Given the description of an element on the screen output the (x, y) to click on. 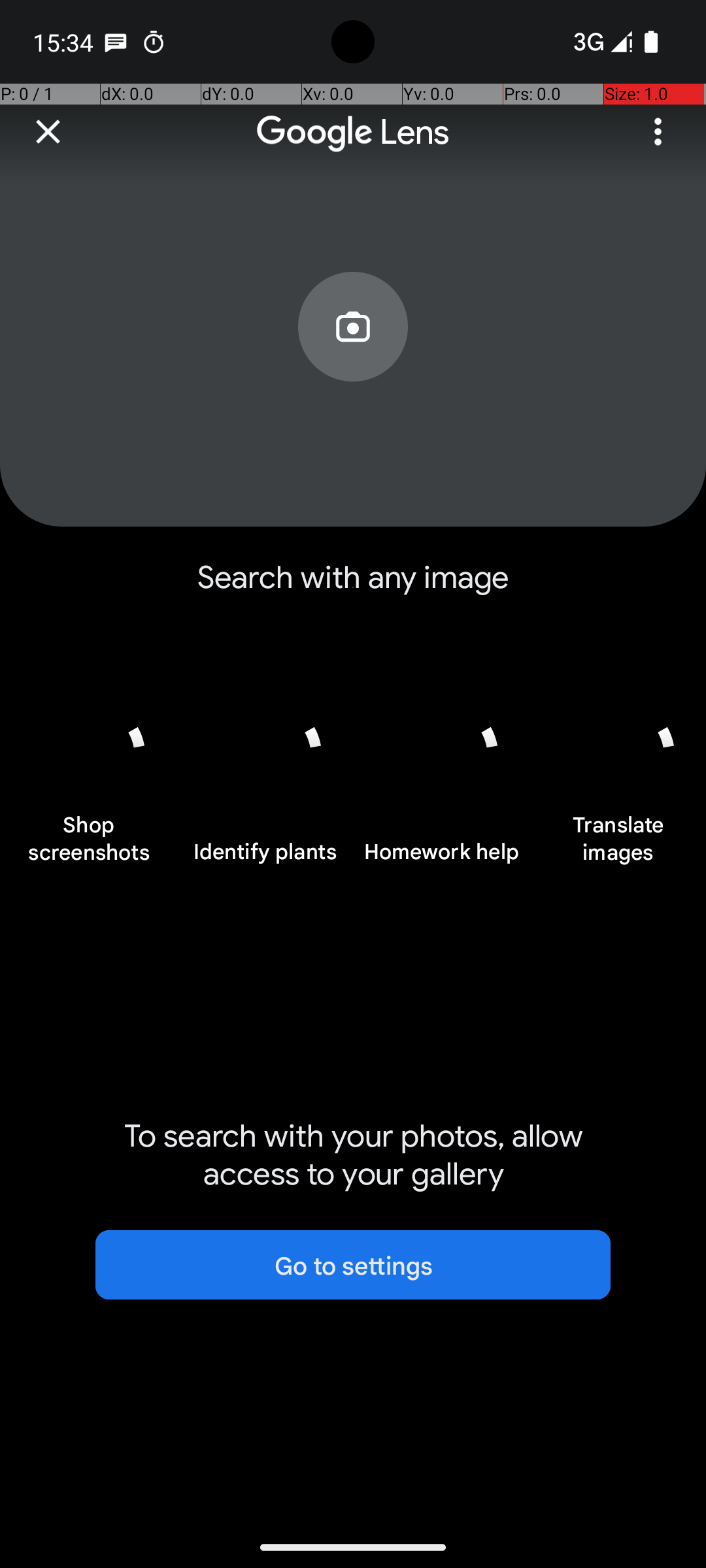
Search with your camera Element type: android.widget.FrameLayout (353, 356)
Search with any image Element type: android.widget.TextView (353, 587)
Shop screenshots Element type: android.widget.TextView (88, 845)
Identify plants Element type: android.widget.TextView (264, 858)
Homework help Element type: android.widget.TextView (441, 858)
Translate images Element type: android.widget.TextView (617, 845)
To search with your photos, allow access to your gallery Element type: android.widget.TextView (352, 1154)
Go to settings Element type: android.widget.Button (352, 1264)
